Given the description of an element on the screen output the (x, y) to click on. 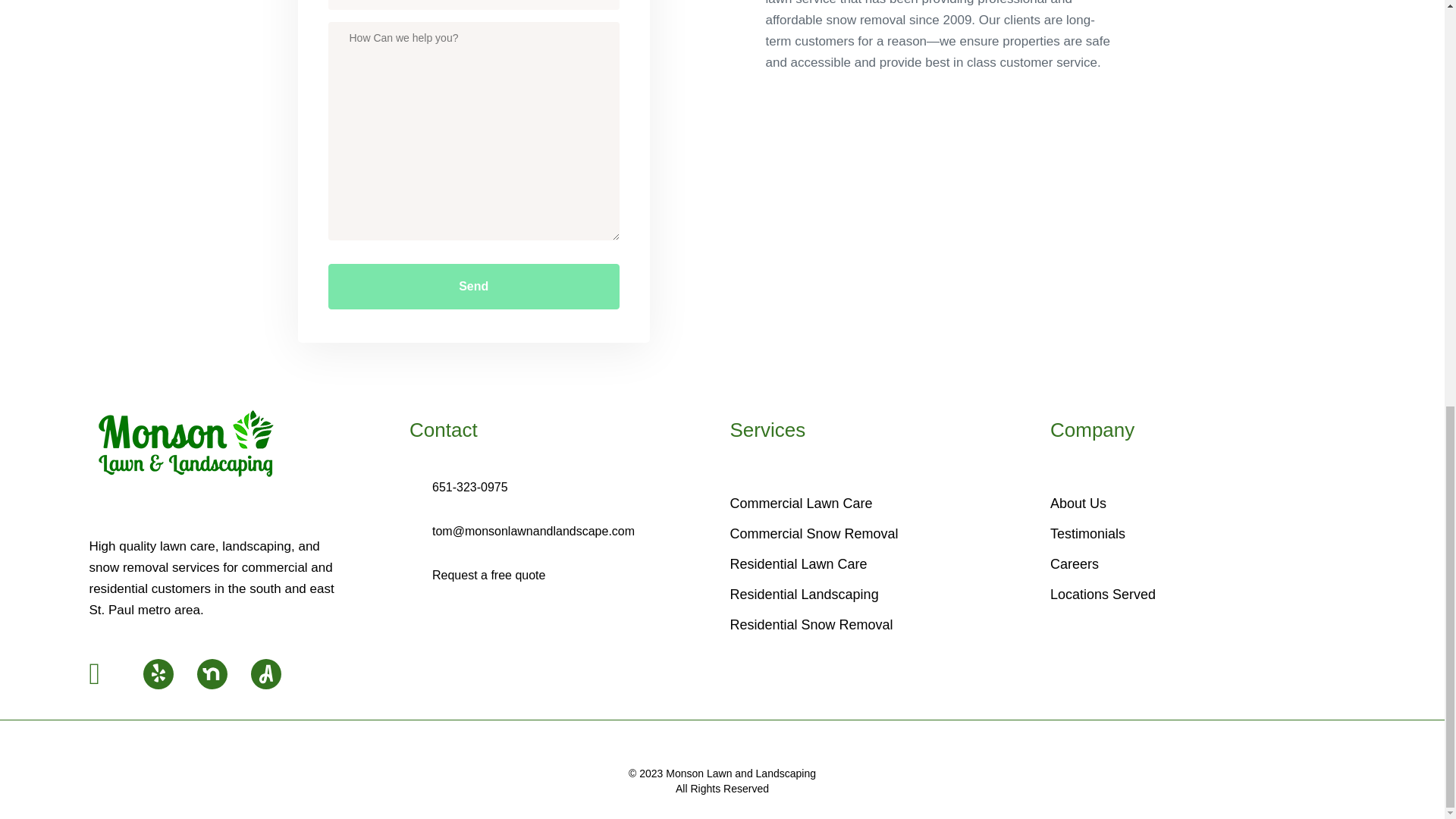
Send (473, 286)
Send (473, 286)
Residential Lawn Care (882, 563)
About Us (1202, 503)
Residential Landscaping (882, 594)
Residential Snow Removal (882, 624)
Testimonials (1202, 533)
Careers (1202, 563)
Locations Served (1202, 594)
Commercial Snow Removal (882, 533)
Commercial Lawn Care (882, 503)
